Given the description of an element on the screen output the (x, y) to click on. 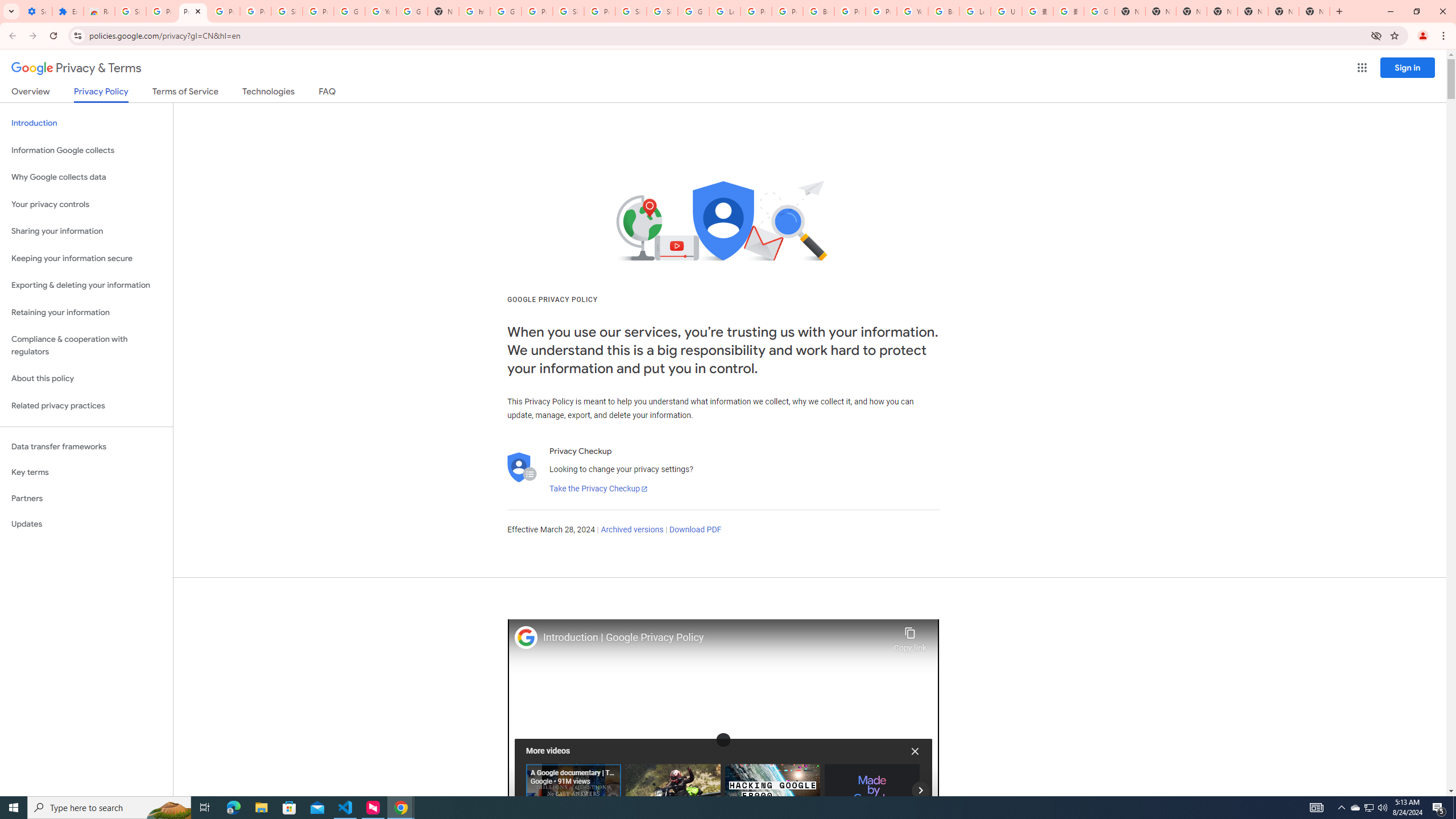
Take the Privacy Checkup (597, 488)
Hide more videos (915, 750)
Retaining your information (86, 312)
Compliance & cooperation with regulators (86, 345)
Download PDF (695, 529)
Reviews: Helix Fruit Jump Arcade Game (98, 11)
Sign in - Google Accounts (631, 11)
